Given the description of an element on the screen output the (x, y) to click on. 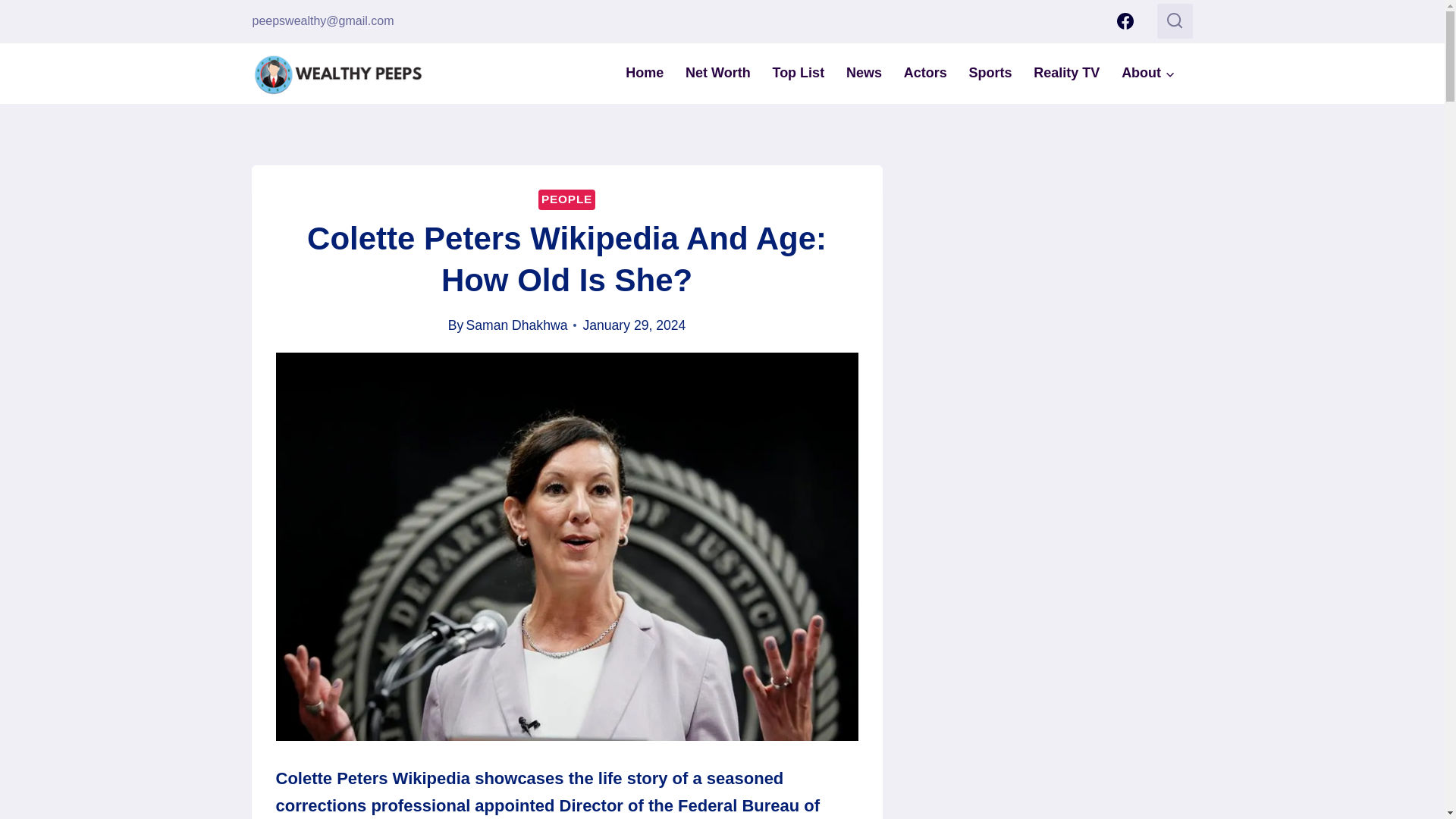
Saman Dhakhwa (516, 324)
News (864, 72)
Actors (925, 72)
Reality TV (1066, 72)
Home (644, 72)
Sports (990, 72)
Net Worth (718, 72)
PEOPLE (566, 199)
About (1148, 72)
Top List (797, 72)
